Given the description of an element on the screen output the (x, y) to click on. 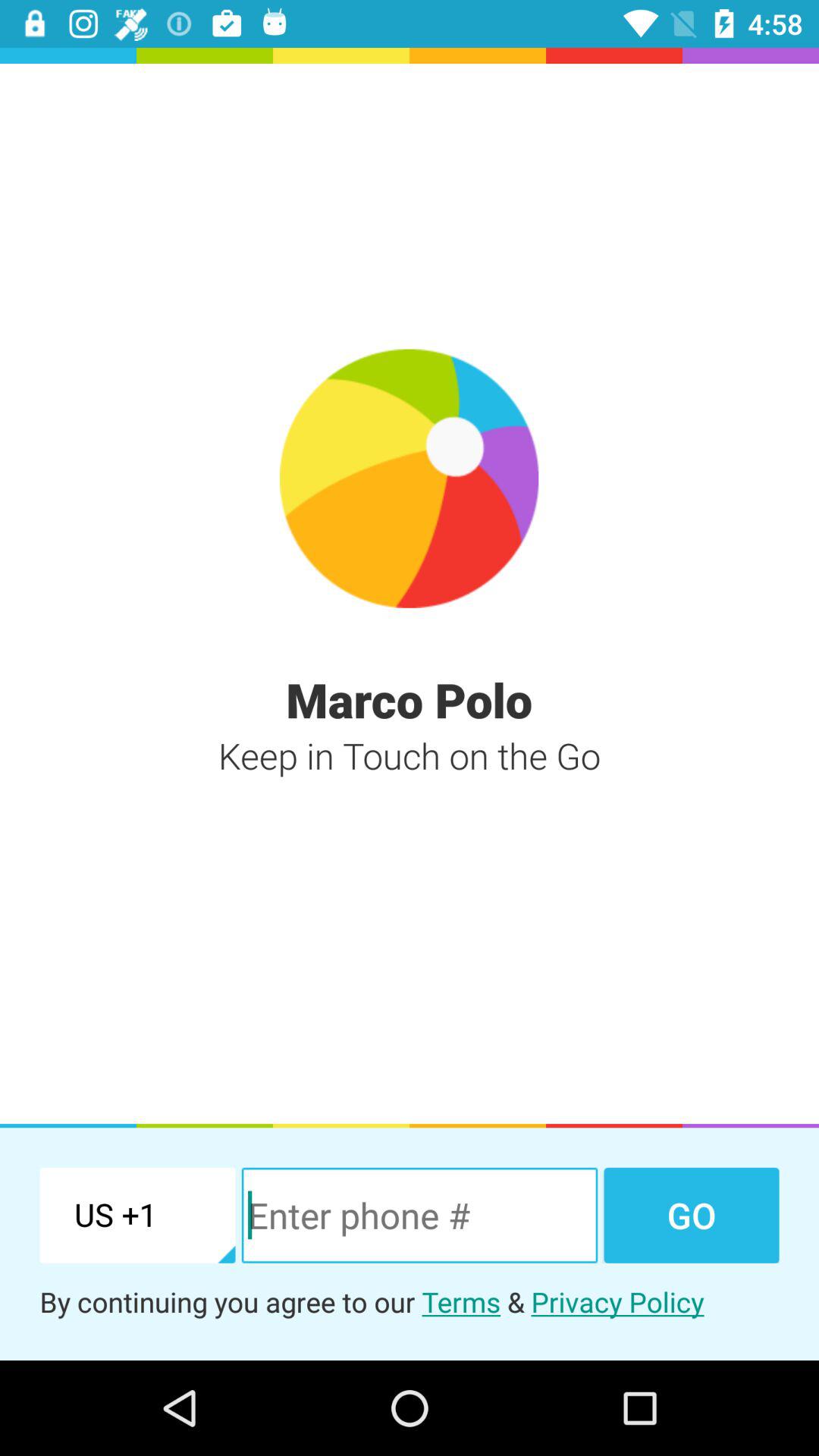
choose icon next to the us +1 item (419, 1215)
